Given the description of an element on the screen output the (x, y) to click on. 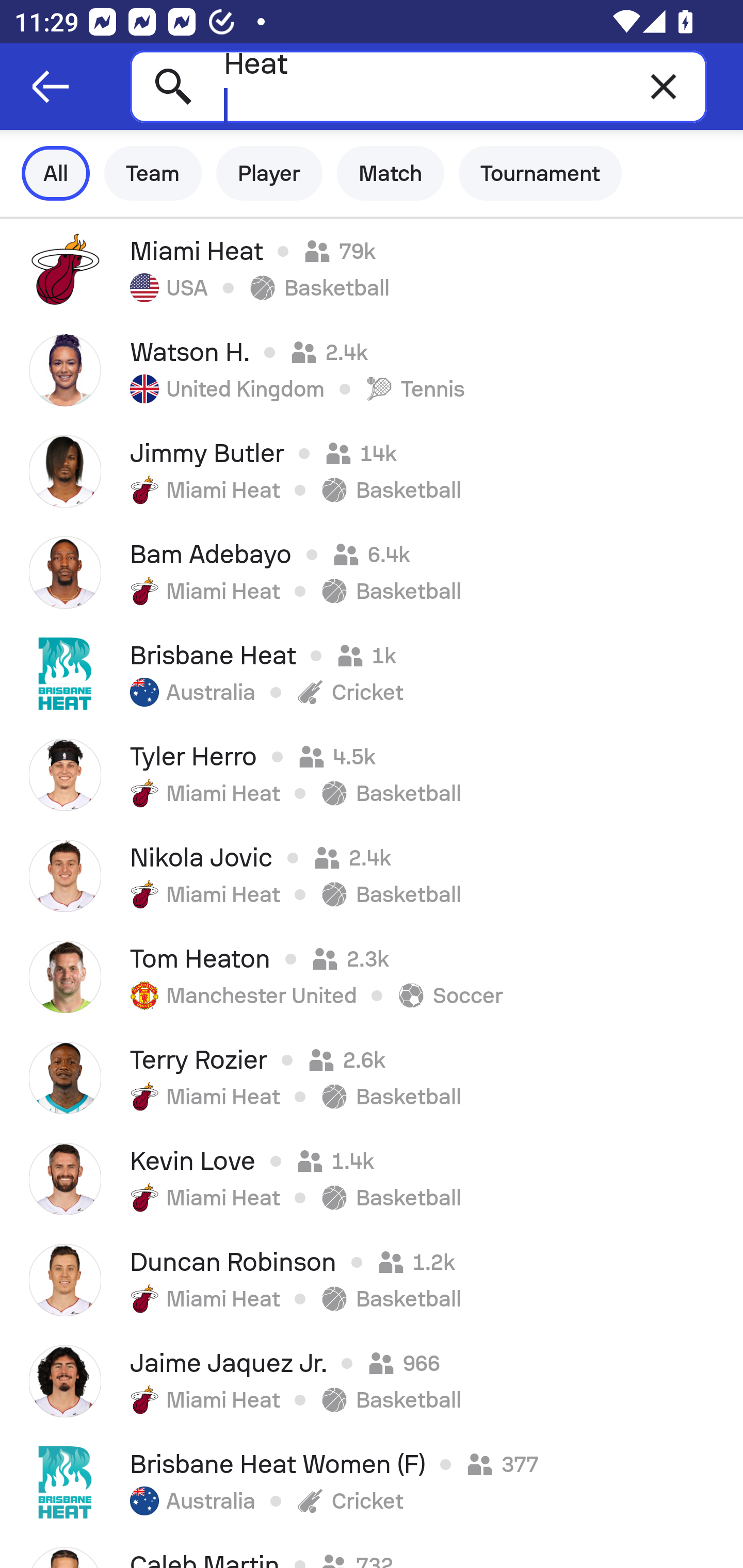
Navigate up (50, 86)
Heat
 (418, 86)
Clear text (663, 86)
All (55, 172)
Team (152, 172)
Player (268, 172)
Match (390, 172)
Tournament (540, 172)
Miami Heat 79k USA Basketball (371, 268)
Watson H. 2.4k United Kingdom Tennis (371, 369)
Jimmy Butler 14k Miami Heat Basketball (371, 471)
Bam Adebayo 6.4k Miami Heat Basketball (371, 572)
Brisbane Heat 1k Australia Cricket (371, 673)
Tyler Herro 4.5k Miami Heat Basketball (371, 774)
Nikola Jovic 2.4k Miami Heat Basketball (371, 875)
Tom Heaton 2.3k Manchester United Soccer (371, 976)
Terry Rozier 2.6k Miami Heat Basketball (371, 1077)
Kevin Love 1.4k Miami Heat Basketball (371, 1178)
Duncan Robinson 1.2k Miami Heat Basketball (371, 1280)
Jaime Jaquez Jr. 966 Miami Heat Basketball (371, 1381)
Brisbane Heat Women (F) 377 Australia Cricket (371, 1482)
